Given the description of an element on the screen output the (x, y) to click on. 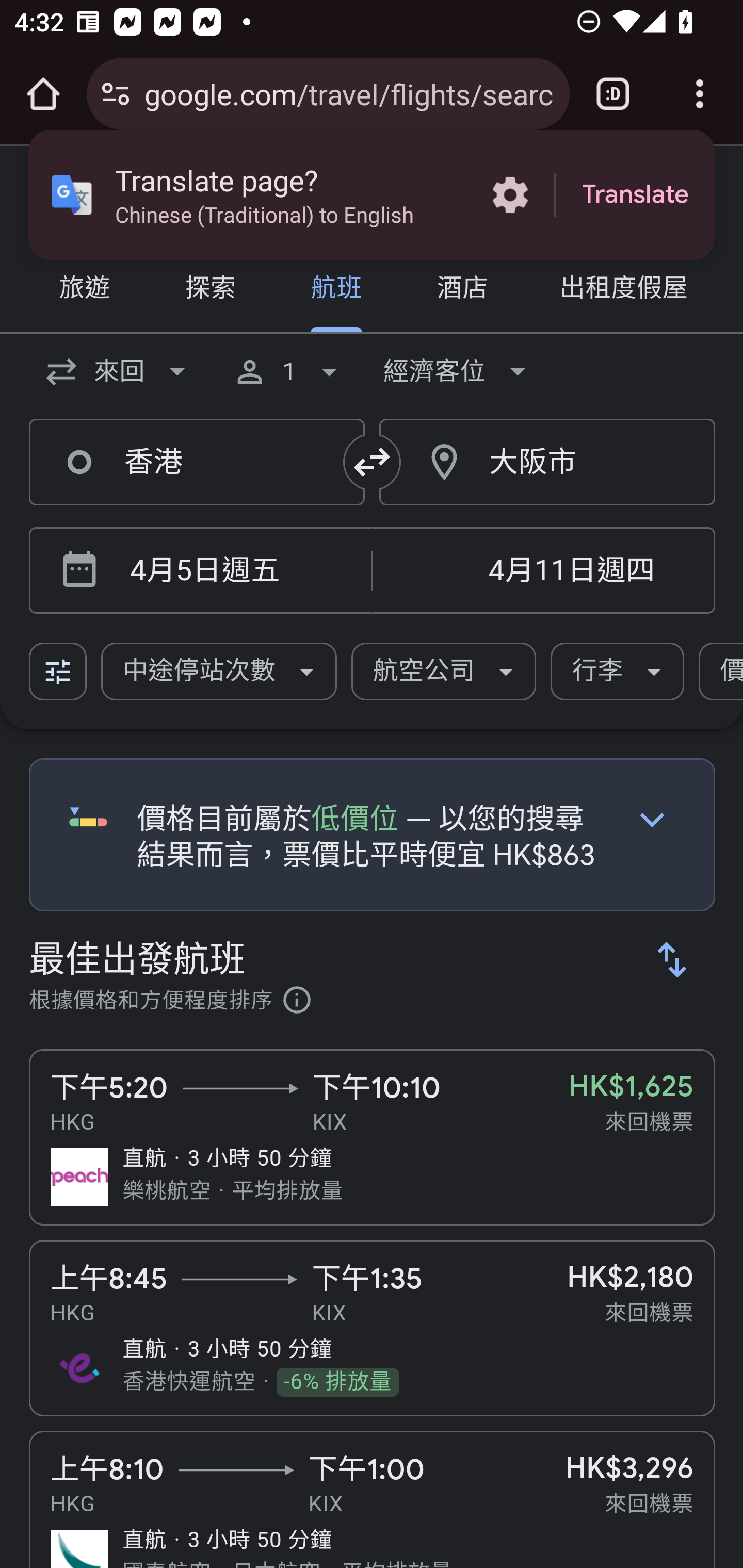
Open the home page (43, 93)
Connection is secure (115, 93)
Switch or close tabs (612, 93)
Customize and control Google Chrome (699, 93)
Google Apps (513, 195)
登入 (643, 195)
旅遊  (84, 289)
探索  (209, 289)
航班  (336, 289)
酒店  (462, 289)
出租度假屋  (623, 289)
1 位乘客，變更乘客人數。 (289, 371)
香港 (197, 462)
大阪市 (547, 462)
將出發地同埋目的地對調 (372, 462)
出發 4月5日週五 (237, 571)
返回 4月11日週四 (543, 571)
所有篩選器 (58, 671)
中途停站次數, 未揀 (219, 671)
航空公司, 未揀 (443, 671)
行李, 未揀 (617, 671)
查看價格紀錄 (652, 818)
最佳航班, 變更排序順序。 (672, 959)
進一步瞭解 (296, 1002)
